Given the description of an element on the screen output the (x, y) to click on. 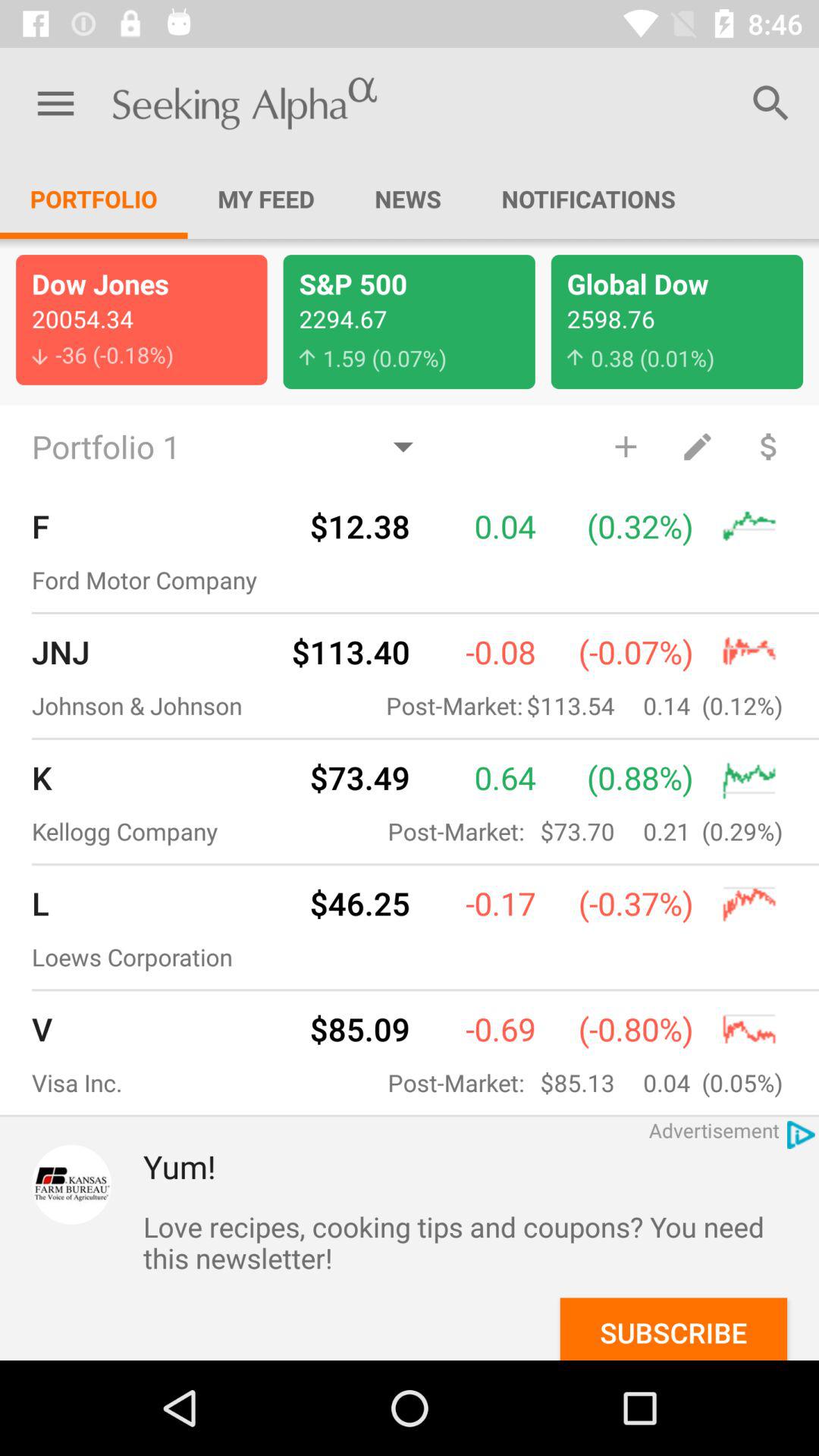
toggle dollars gained or graphs (768, 446)
